Given the description of an element on the screen output the (x, y) to click on. 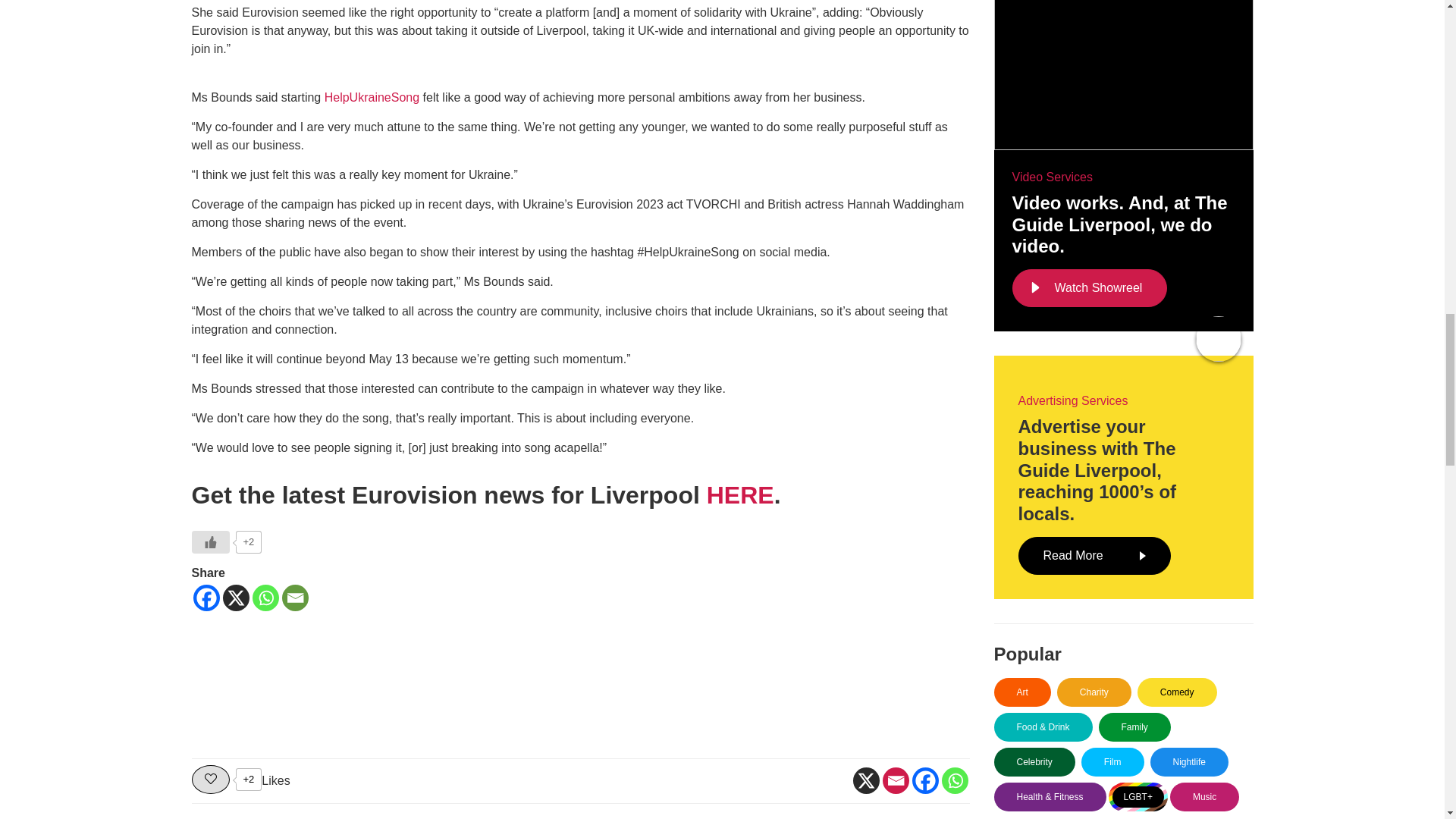
Facebook (205, 597)
Whatsapp (264, 597)
Email (295, 597)
Email (895, 780)
Whatsapp (955, 780)
Facebook (924, 780)
X (865, 780)
X (235, 597)
